Given the description of an element on the screen output the (x, y) to click on. 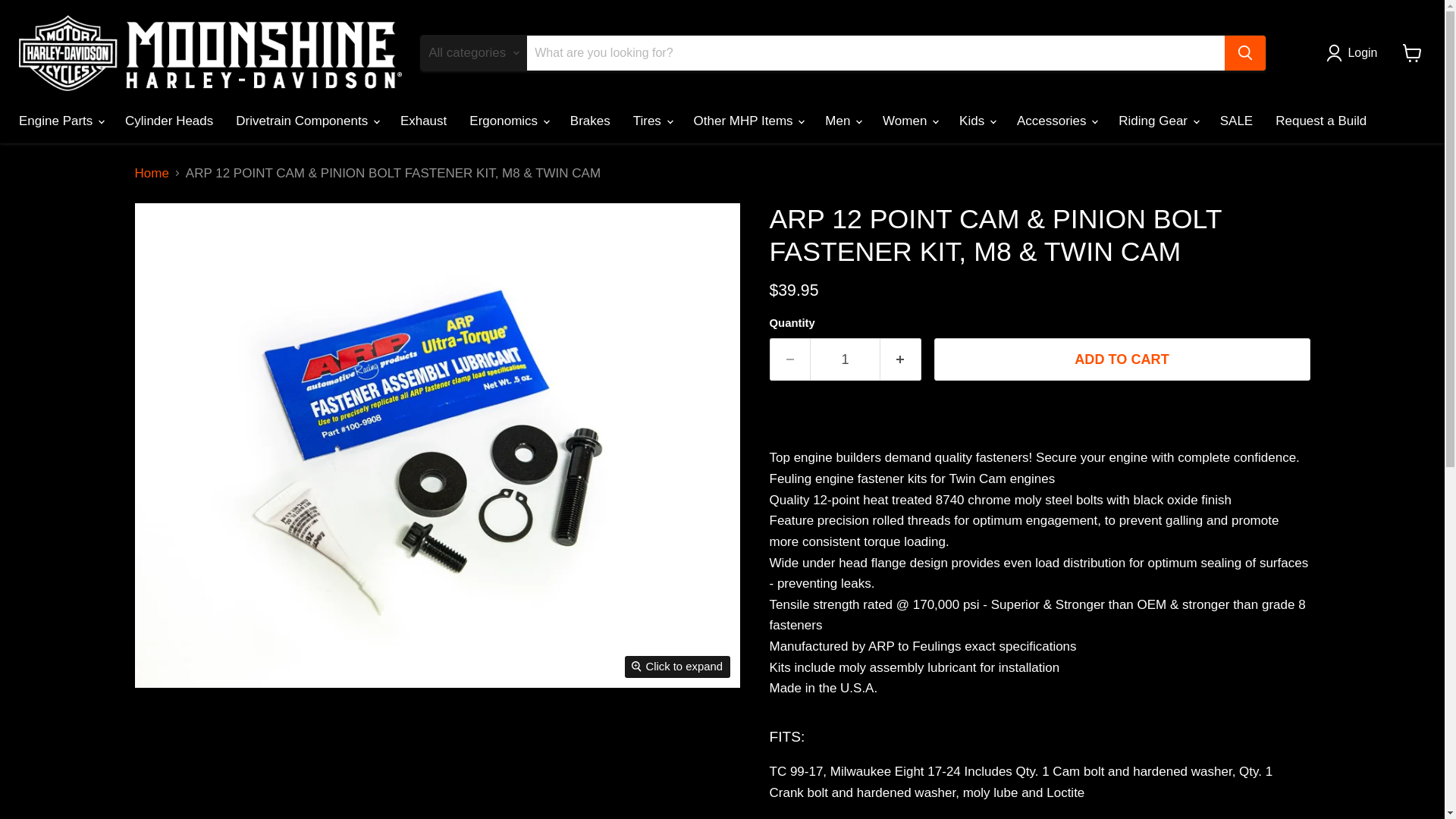
Cylinder Heads (168, 120)
Login (1355, 53)
View cart (1411, 52)
1 (844, 359)
